Given the description of an element on the screen output the (x, y) to click on. 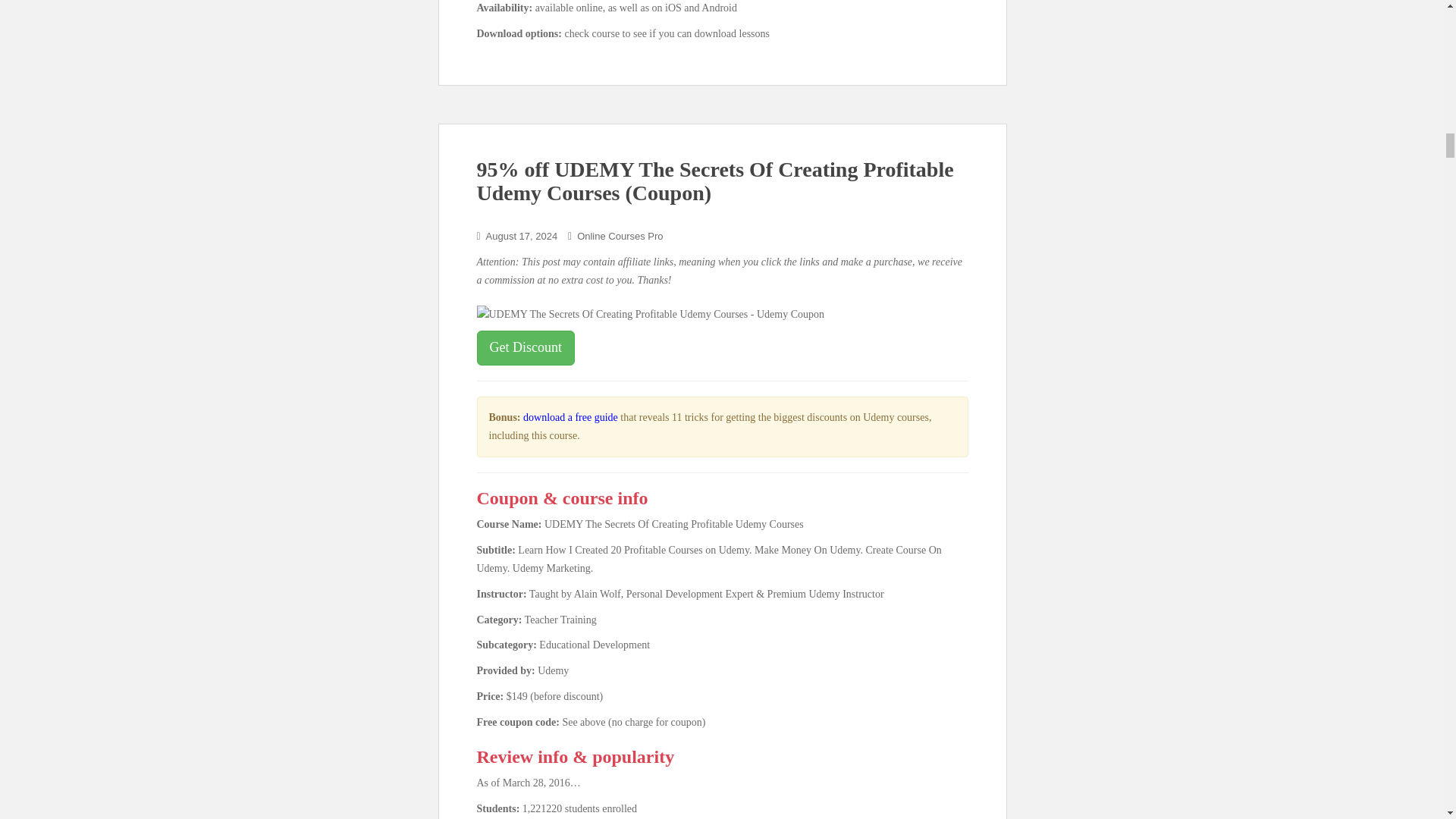
August 17, 2024 (521, 235)
Get Discount (524, 347)
Online Courses Pro (619, 235)
